Given the description of an element on the screen output the (x, y) to click on. 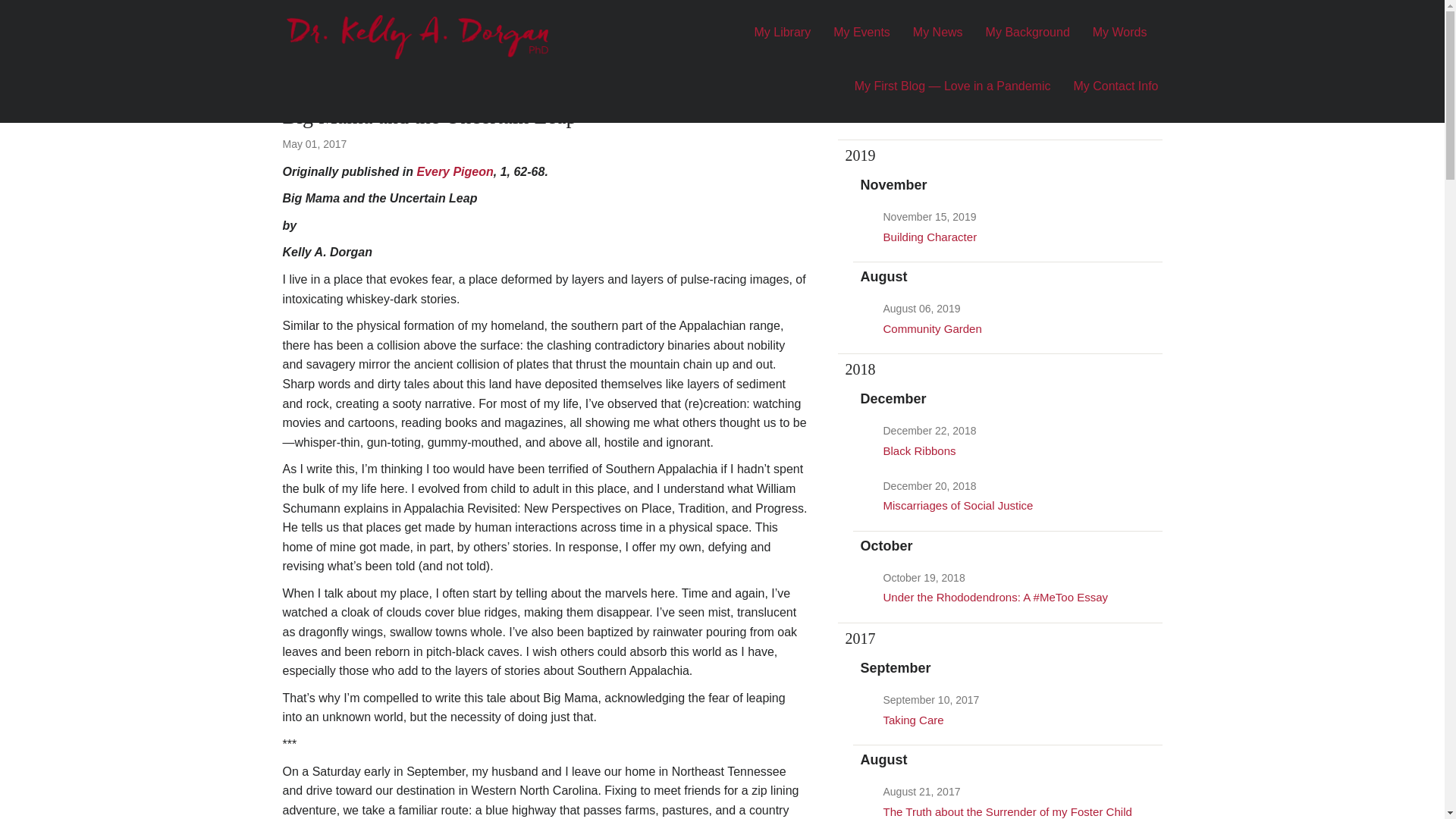
Black Ribbons (918, 450)
My Words (1119, 41)
Taking Care (912, 719)
Every Pigeon (454, 171)
My Events (861, 41)
The Truth about the Surrender of my Foster Child (1006, 811)
My Background (1027, 41)
My News (937, 41)
Miscarriages of Social Justice (957, 504)
My Library (782, 41)
My Contact Info (1109, 95)
Community Garden (931, 328)
Building Character (929, 236)
